Given the description of an element on the screen output the (x, y) to click on. 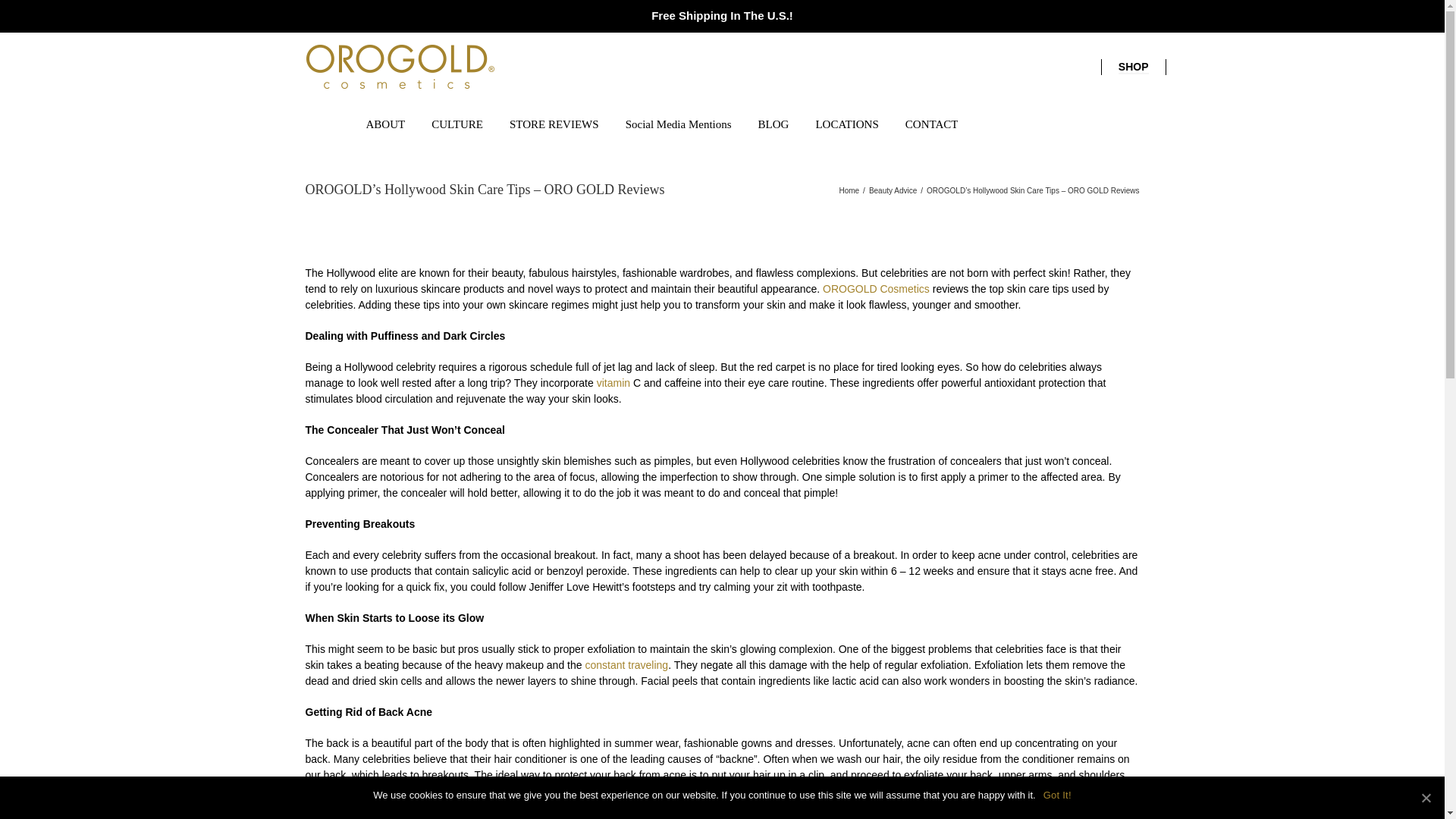
OROGOLD Cosmetics (877, 287)
OROGOLD Reviews on Social Media (877, 287)
LOCATIONS (846, 123)
Home (848, 190)
STORE REVIEWS (553, 123)
SHOP (1133, 66)
Social Media Mentions (679, 123)
Beauty Advice (893, 190)
constant traveling (626, 664)
vitamin (613, 381)
